Given the description of an element on the screen output the (x, y) to click on. 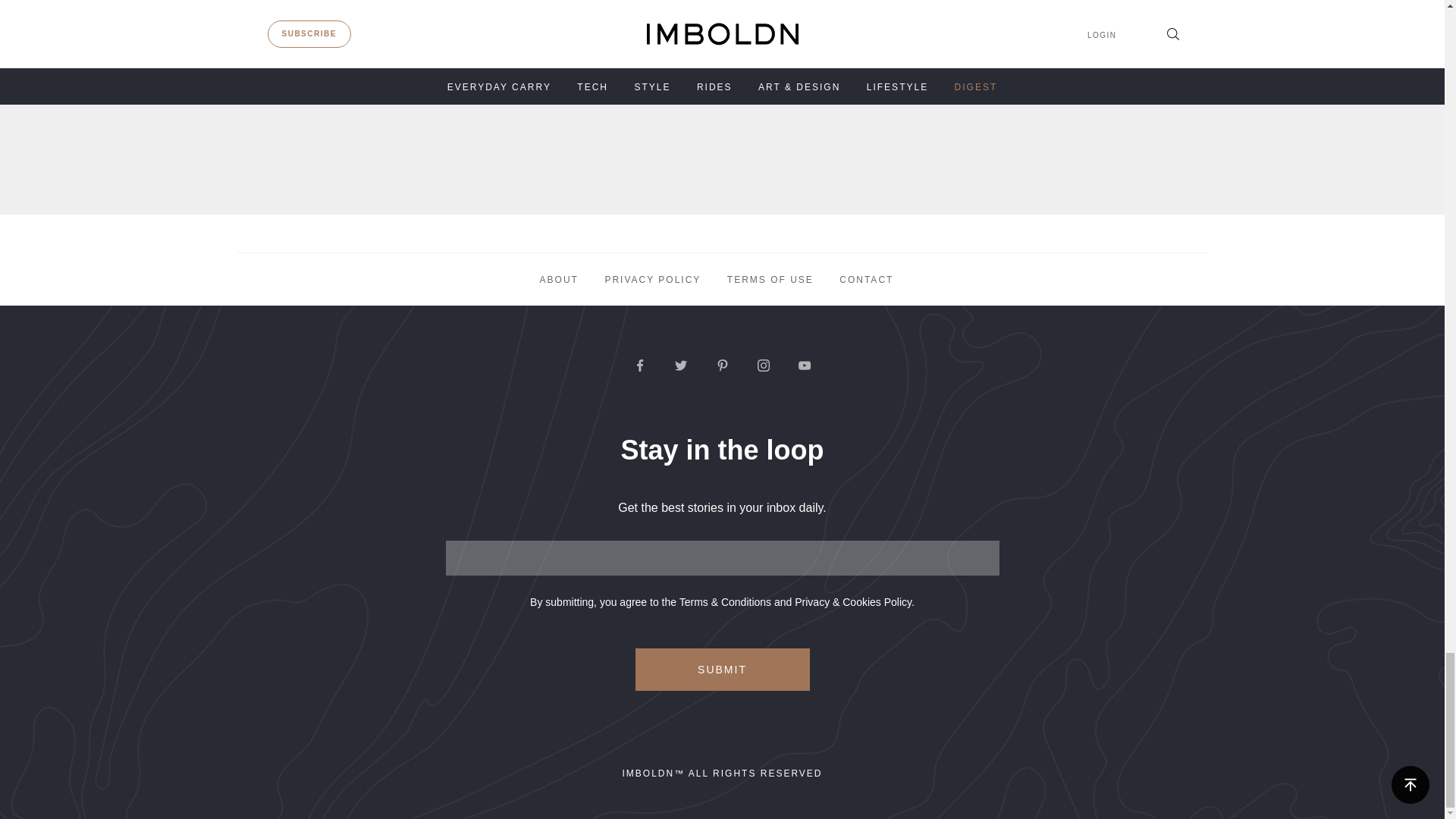
Submit (721, 669)
